Given the description of an element on the screen output the (x, y) to click on. 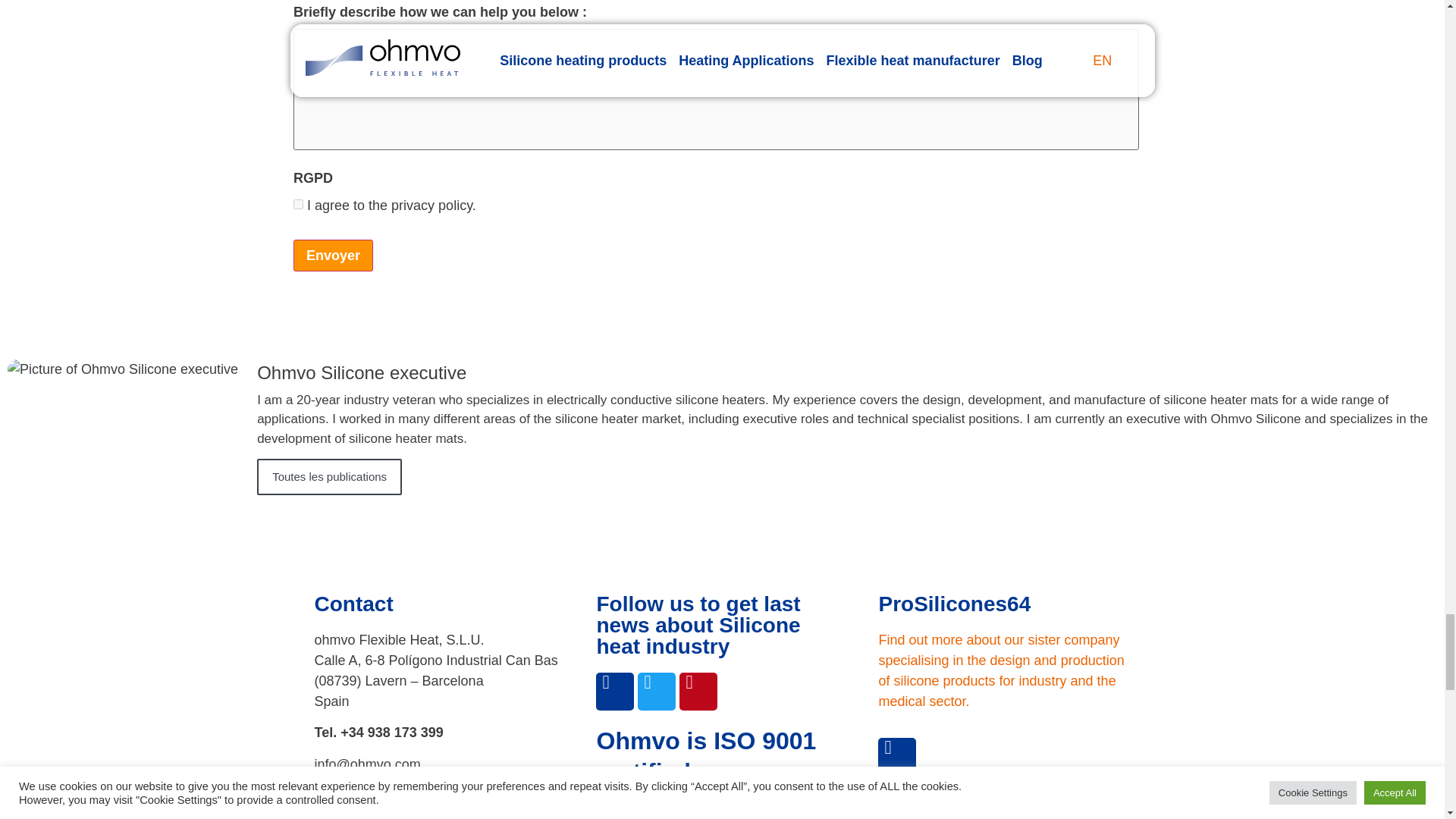
Envoyer (333, 255)
1 (298, 204)
